Given the description of an element on the screen output the (x, y) to click on. 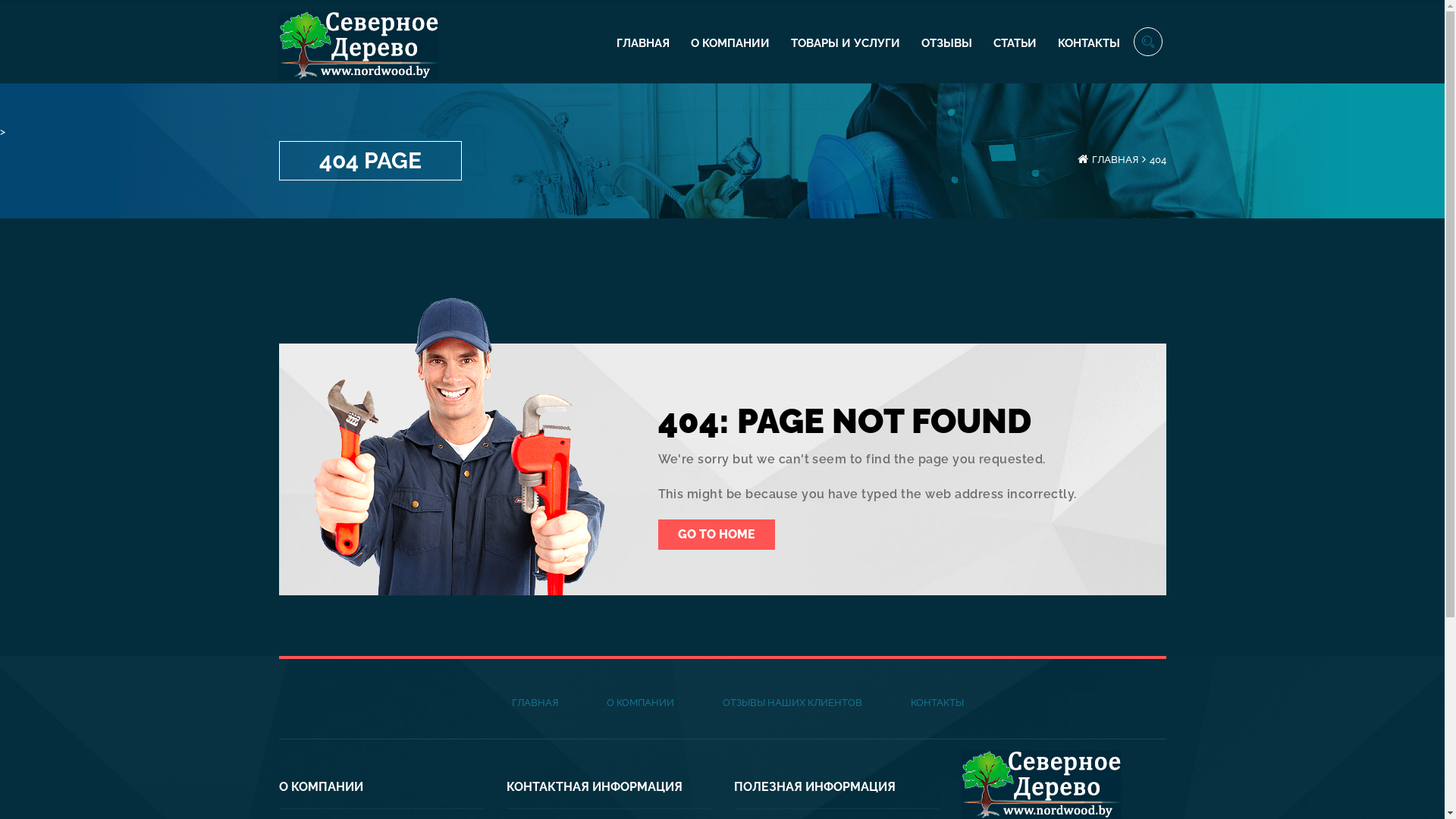
GO TO HOME Element type: text (716, 534)
